Given the description of an element on the screen output the (x, y) to click on. 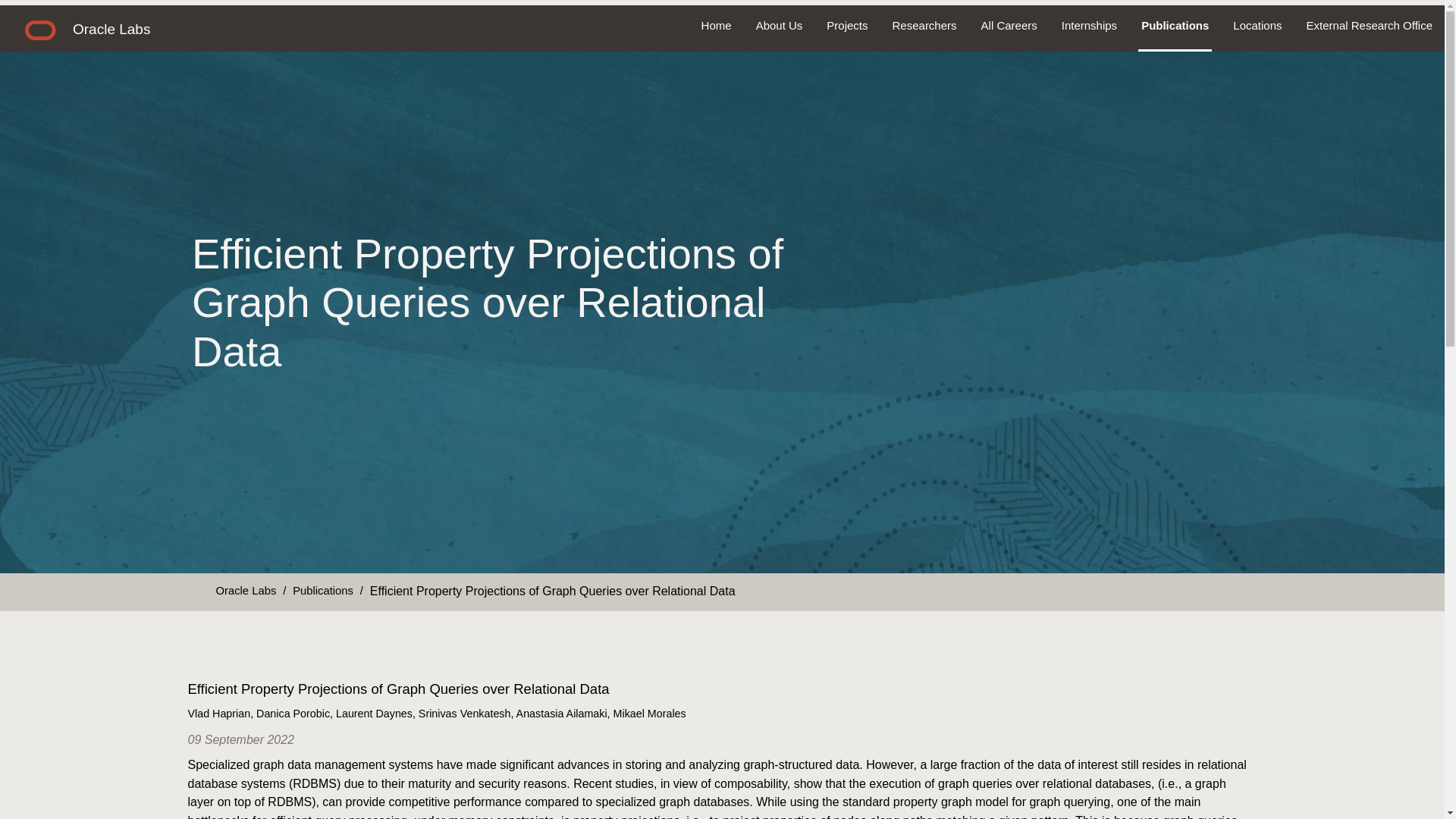
Home (716, 25)
Oracle Labs (245, 590)
Locations (1257, 25)
Publications (1175, 25)
Oracle Labs (111, 29)
Projects (846, 25)
All Careers (1009, 25)
Publications (322, 590)
Internships (1089, 25)
Researchers (924, 25)
About Us (779, 25)
